Given the description of an element on the screen output the (x, y) to click on. 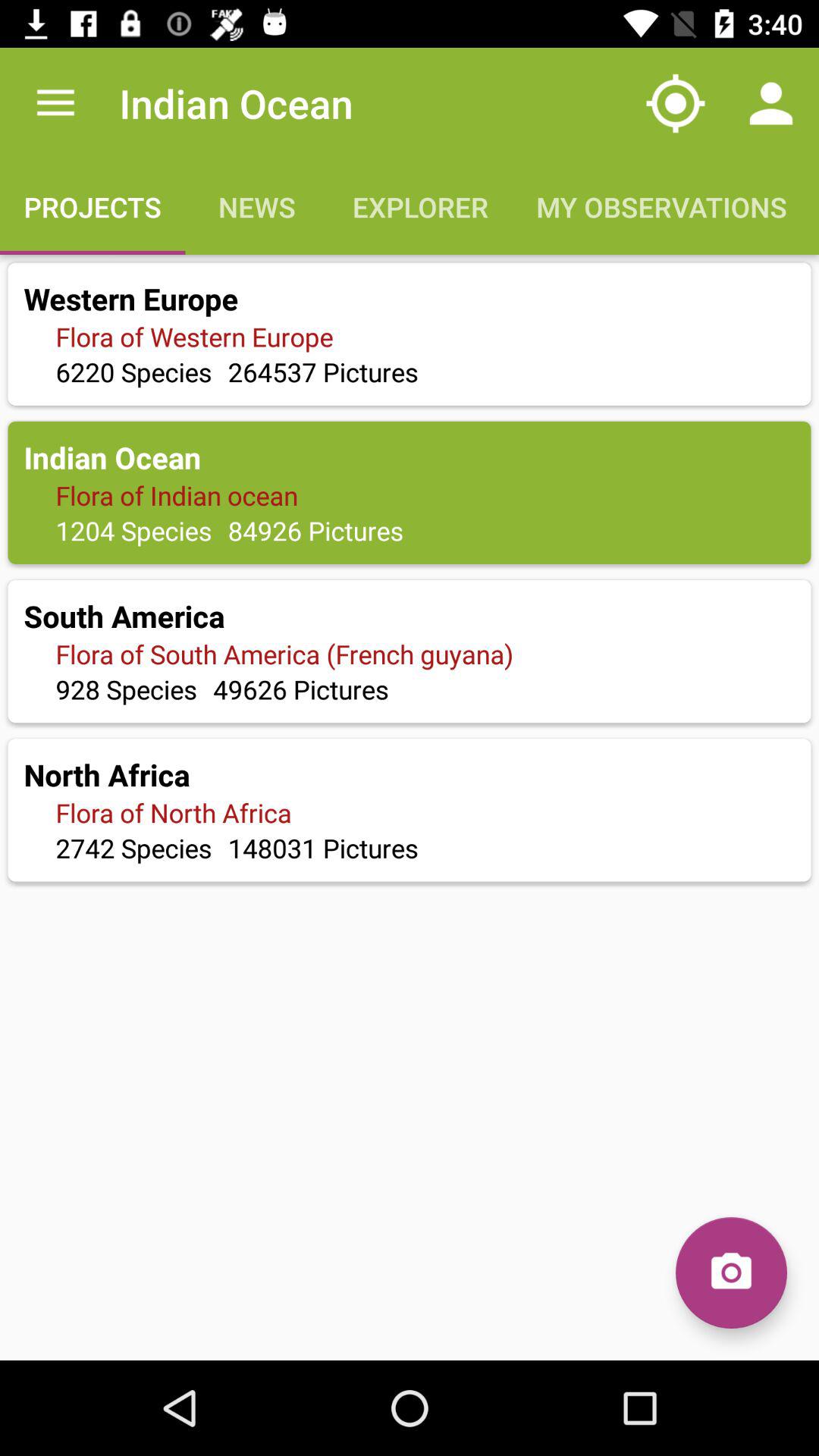
select icon above my observations item (675, 103)
